Given the description of an element on the screen output the (x, y) to click on. 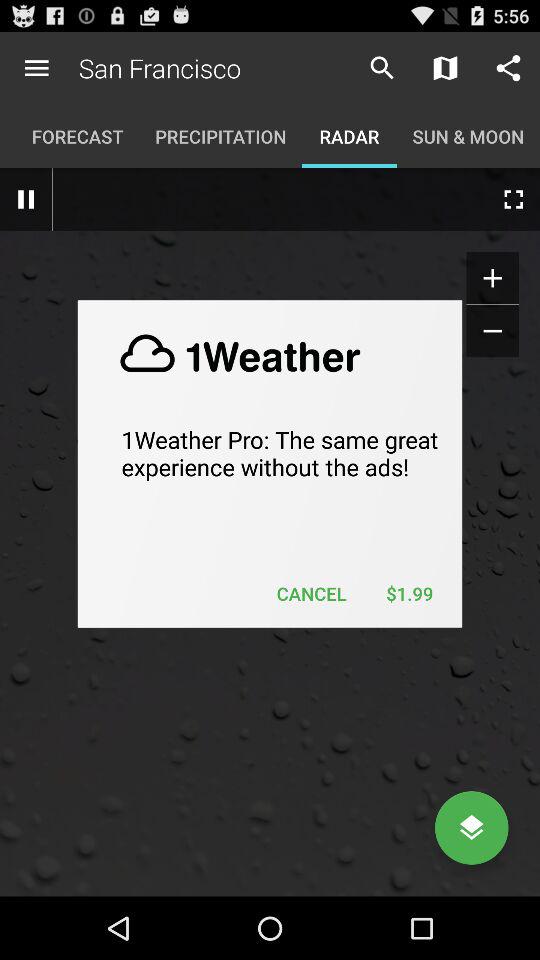
turn off item below 1weather pro the (409, 593)
